Given the description of an element on the screen output the (x, y) to click on. 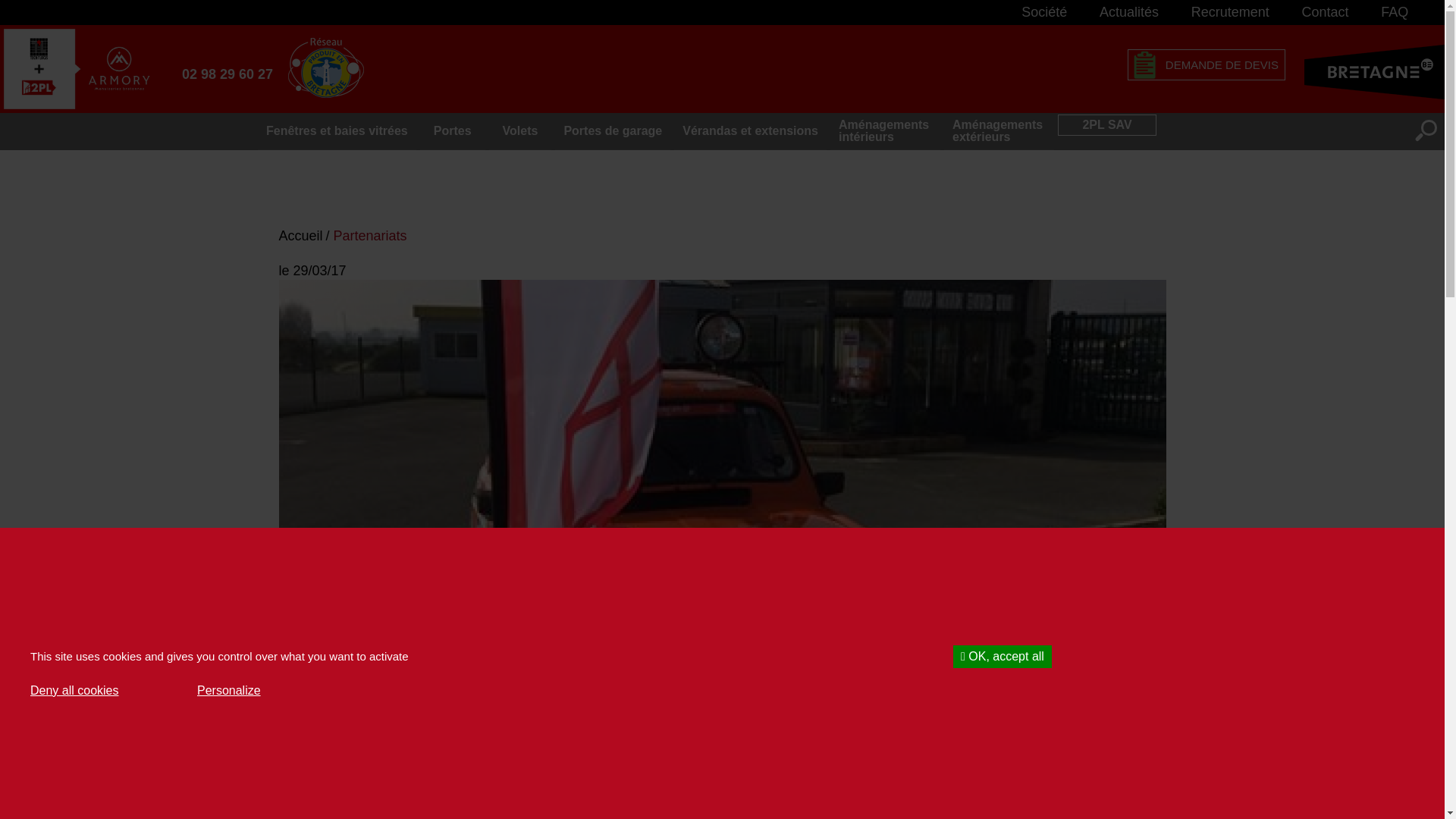
Partenariats Element type: text (371, 235)
Contact Element type: text (1325, 11)
Portes Element type: text (452, 130)
Portes de garage Element type: text (612, 130)
Recrutement Element type: text (1230, 11)
Rechercher Element type: text (1426, 130)
FAQ Element type: text (1394, 11)
Accueil Element type: text (302, 235)
http://bit.ly/2mMDb7f Element type: text (611, 795)
2PL SAV Element type: text (1106, 123)
DEMANDE DE DEVIS Element type: text (1206, 63)
Deny all cookies Element type: text (74, 690)
OK, accept all Element type: text (1002, 656)
Volets Element type: text (520, 130)
Personalize Element type: text (228, 690)
